Given the description of an element on the screen output the (x, y) to click on. 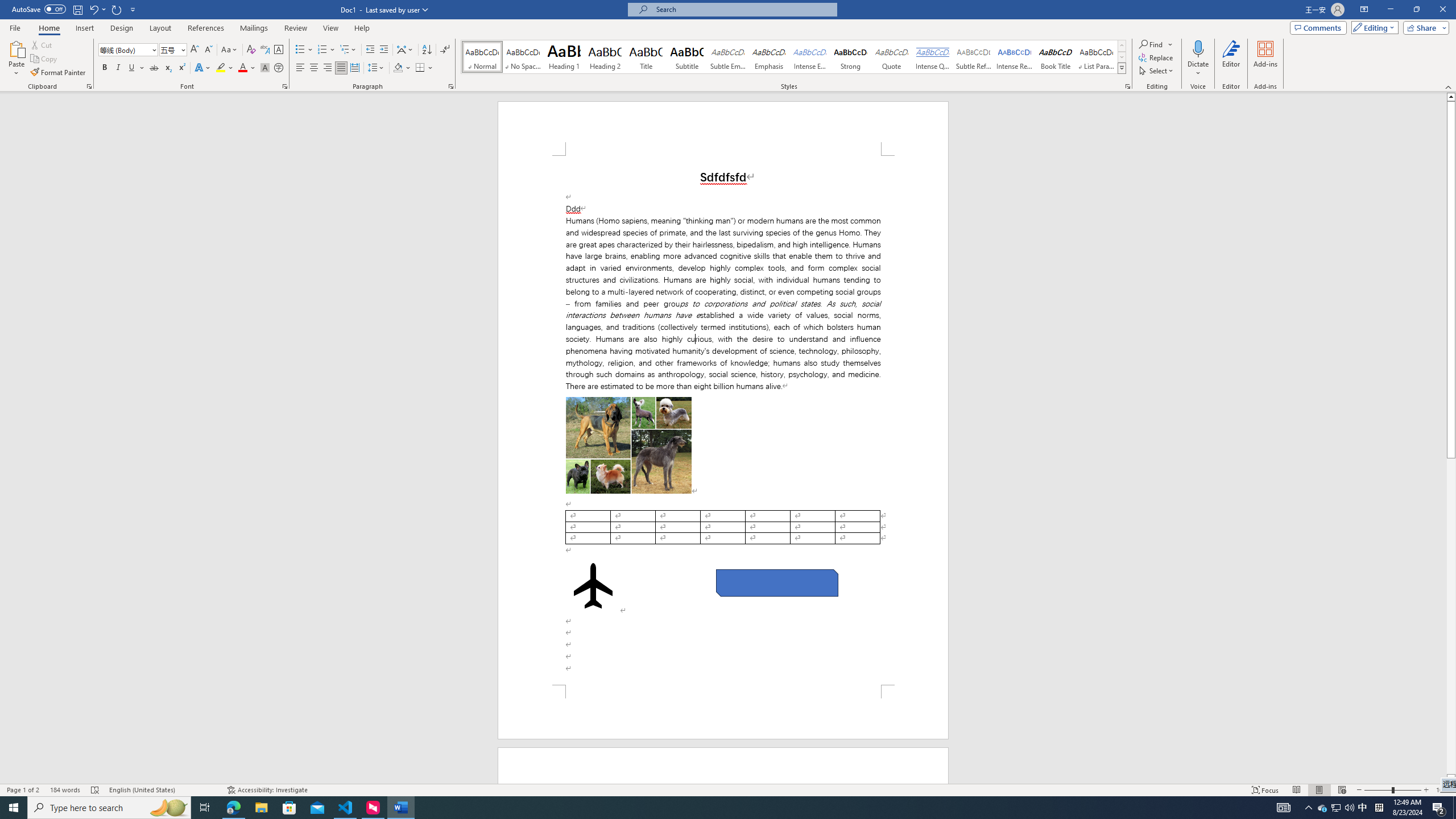
Shading RGB(0, 0, 0) (397, 67)
Italic (118, 67)
Grow Font (193, 49)
Asian Layout (405, 49)
Styles (1121, 67)
Spelling and Grammar Check Errors (94, 790)
Phonetic Guide... (264, 49)
Text Highlight Color Yellow (220, 67)
Subscript (167, 67)
Subtitle (686, 56)
Superscript (180, 67)
